Given the description of an element on the screen output the (x, y) to click on. 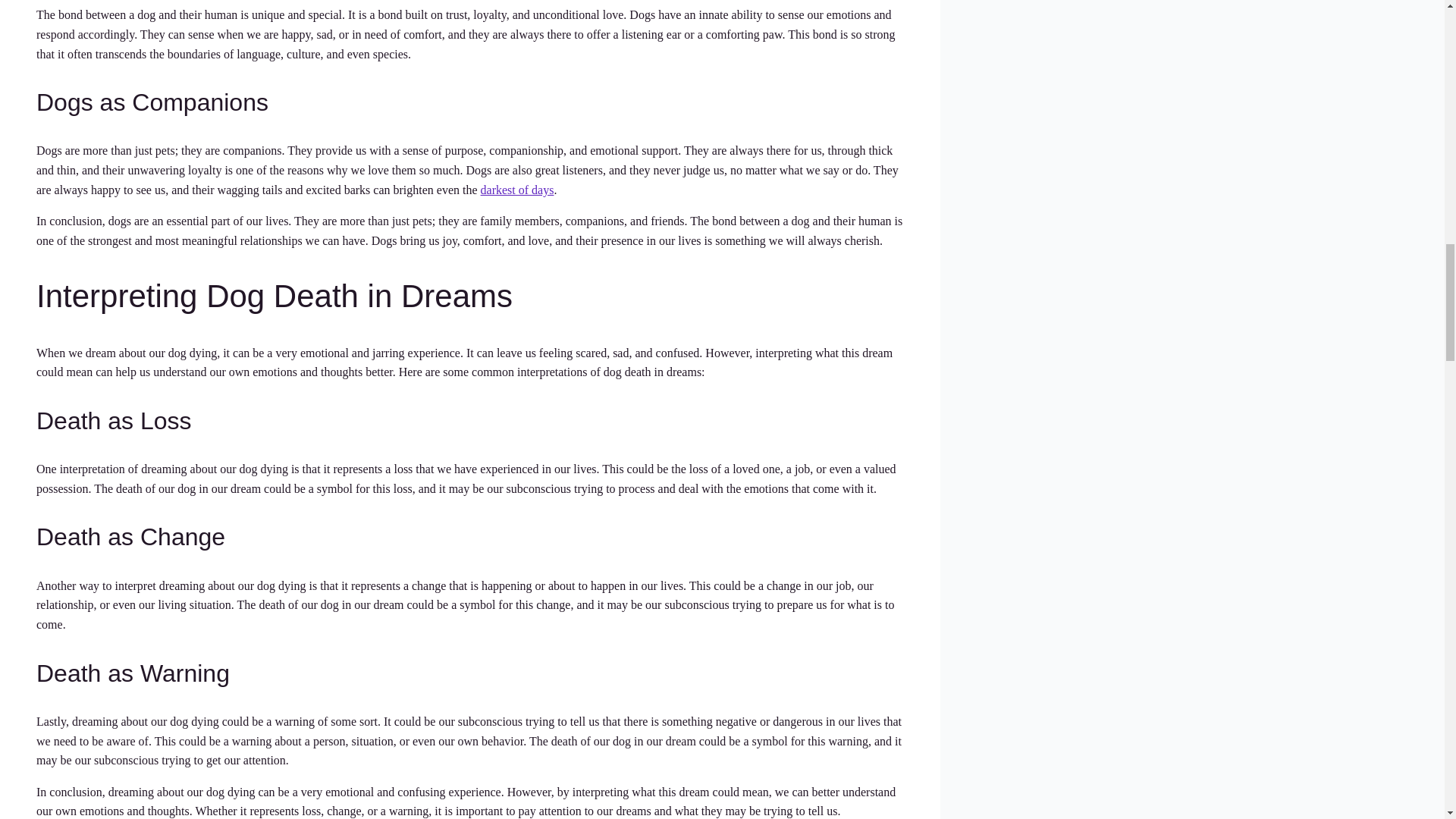
darkest of days (517, 189)
Posts About Darkest of Days (517, 189)
